Given the description of an element on the screen output the (x, y) to click on. 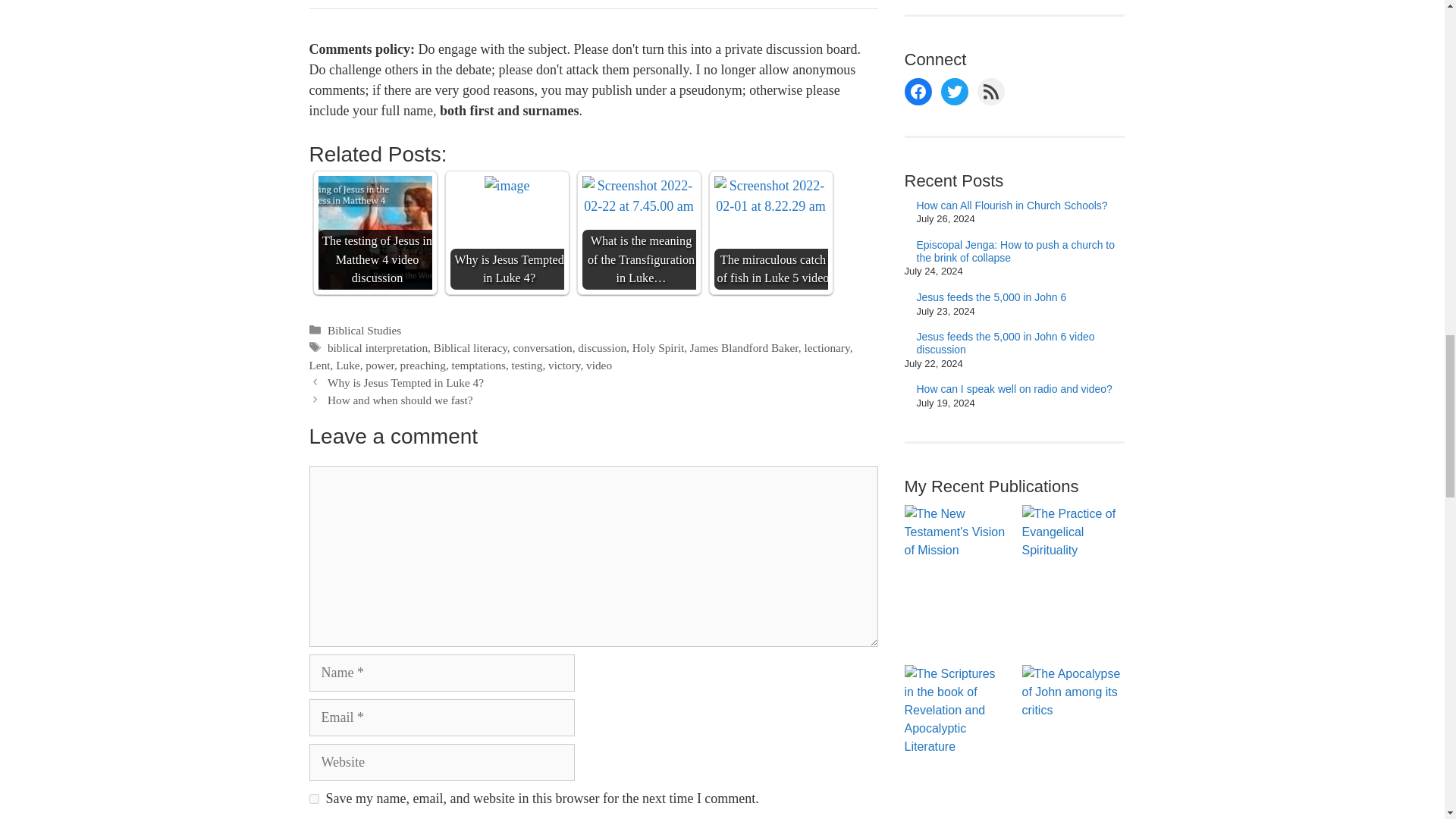
discussion (602, 347)
Why is Jesus Tempted in Luke 4? (506, 232)
Holy Spirit (657, 347)
The miraculous catch of fish in Luke 5 video (771, 232)
conversation (542, 347)
lectionary (825, 347)
Biblical Studies (364, 329)
biblical interpretation (377, 347)
The testing of Jesus in Matthew 4 video discussion (375, 232)
The miraculous catch of fish in Luke 5 video (771, 196)
yes (313, 798)
Luke (347, 364)
Why is Jesus Tempted in Luke 4? (506, 186)
Biblical literacy (469, 347)
